Given the description of an element on the screen output the (x, y) to click on. 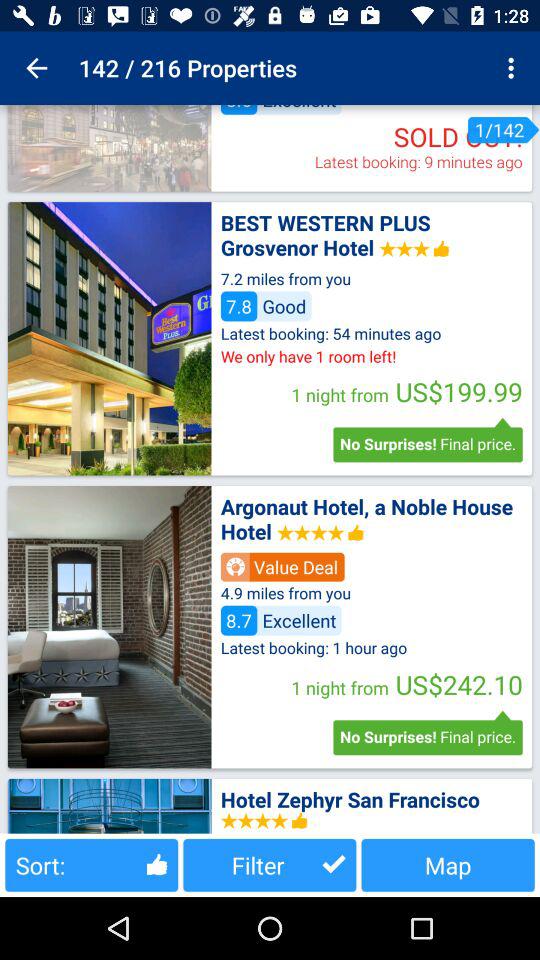
click item next to the 142 / 216 properties (36, 68)
